Given the description of an element on the screen output the (x, y) to click on. 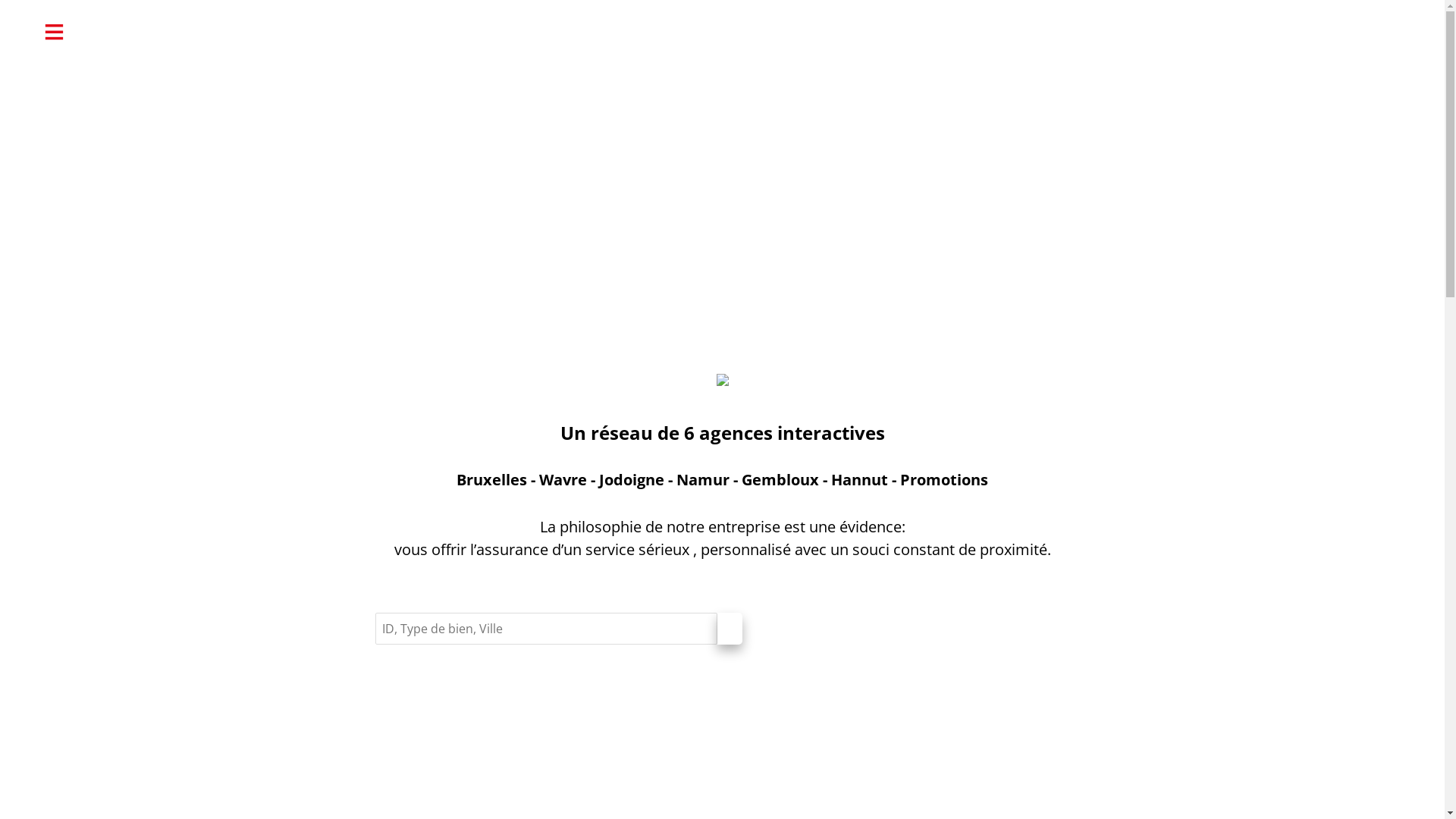
Hannut Element type: text (859, 479)
Gembloux Element type: text (780, 479)
Wavre Element type: text (562, 479)
Jodoigne Element type: text (631, 479)
Namur Element type: text (702, 479)
Promotions Element type: text (944, 479)
Bruxelles Element type: text (491, 479)
